Given the description of an element on the screen output the (x, y) to click on. 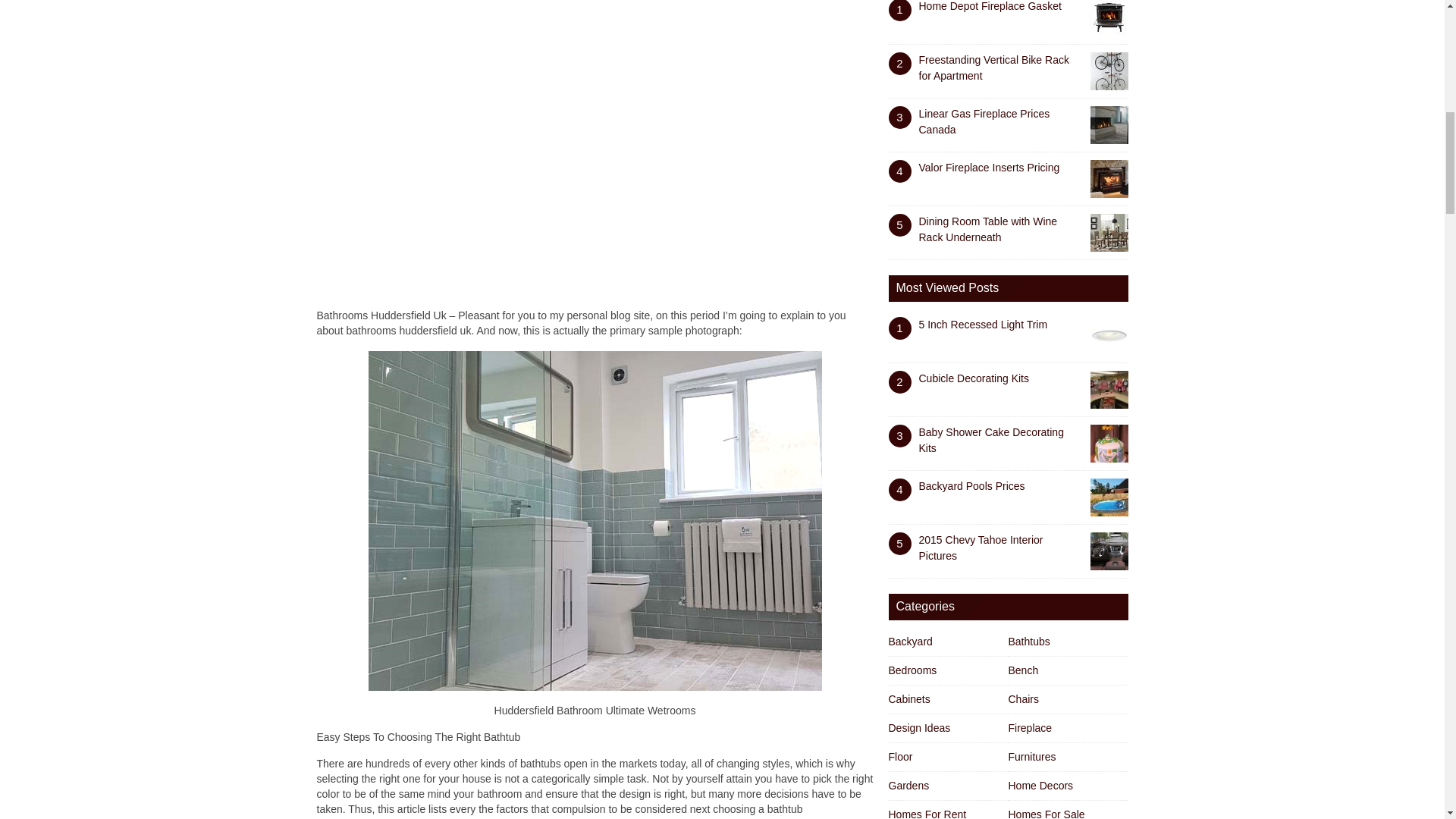
Home Depot Fireplace Gasket (989, 6)
